Given the description of an element on the screen output the (x, y) to click on. 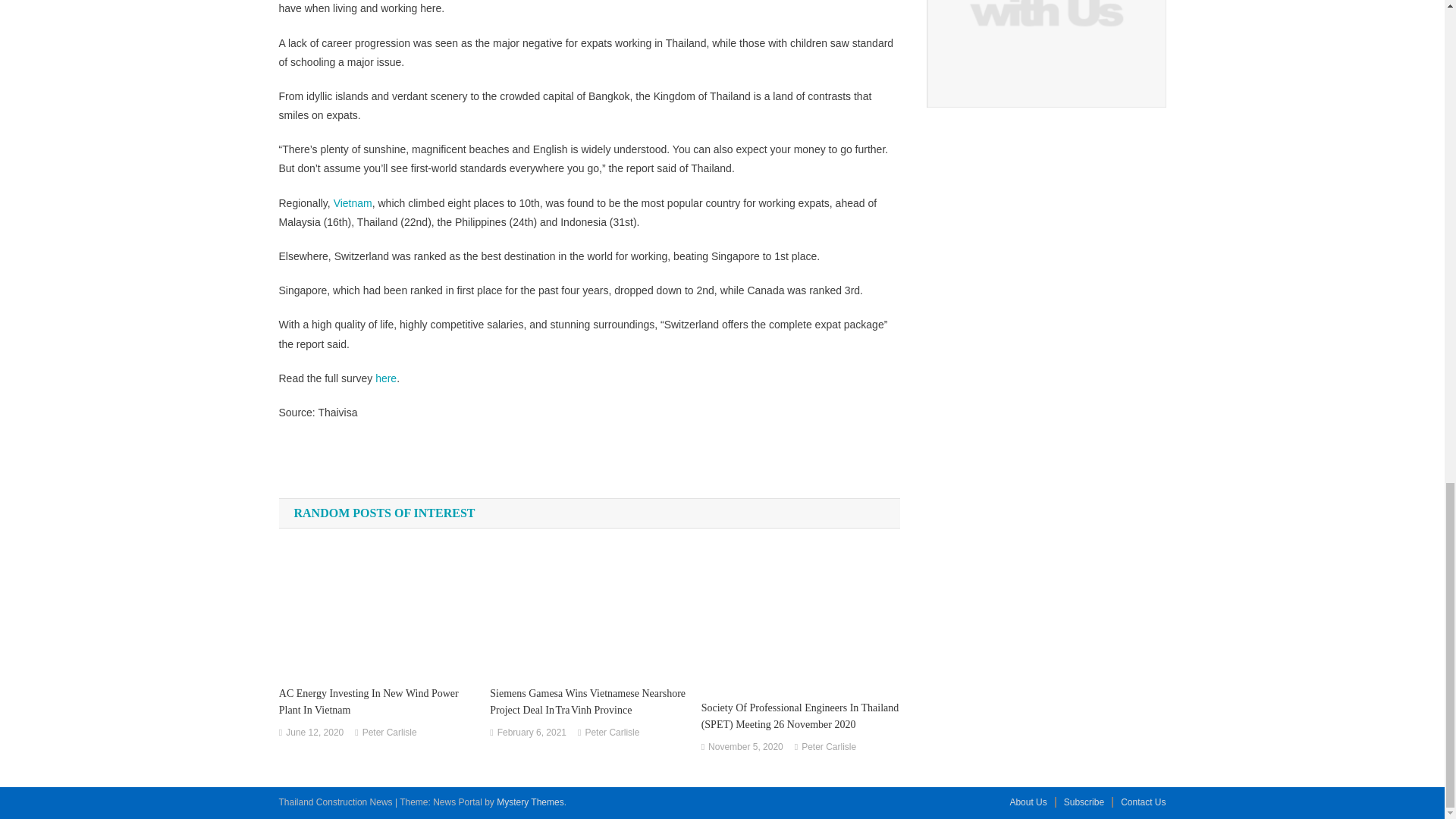
June 12, 2020 (314, 733)
Peter Carlisle (389, 733)
here (385, 378)
AC Energy Investing In New Wind Power Plant In Vietnam (378, 702)
Vietnam (352, 203)
